Given the description of an element on the screen output the (x, y) to click on. 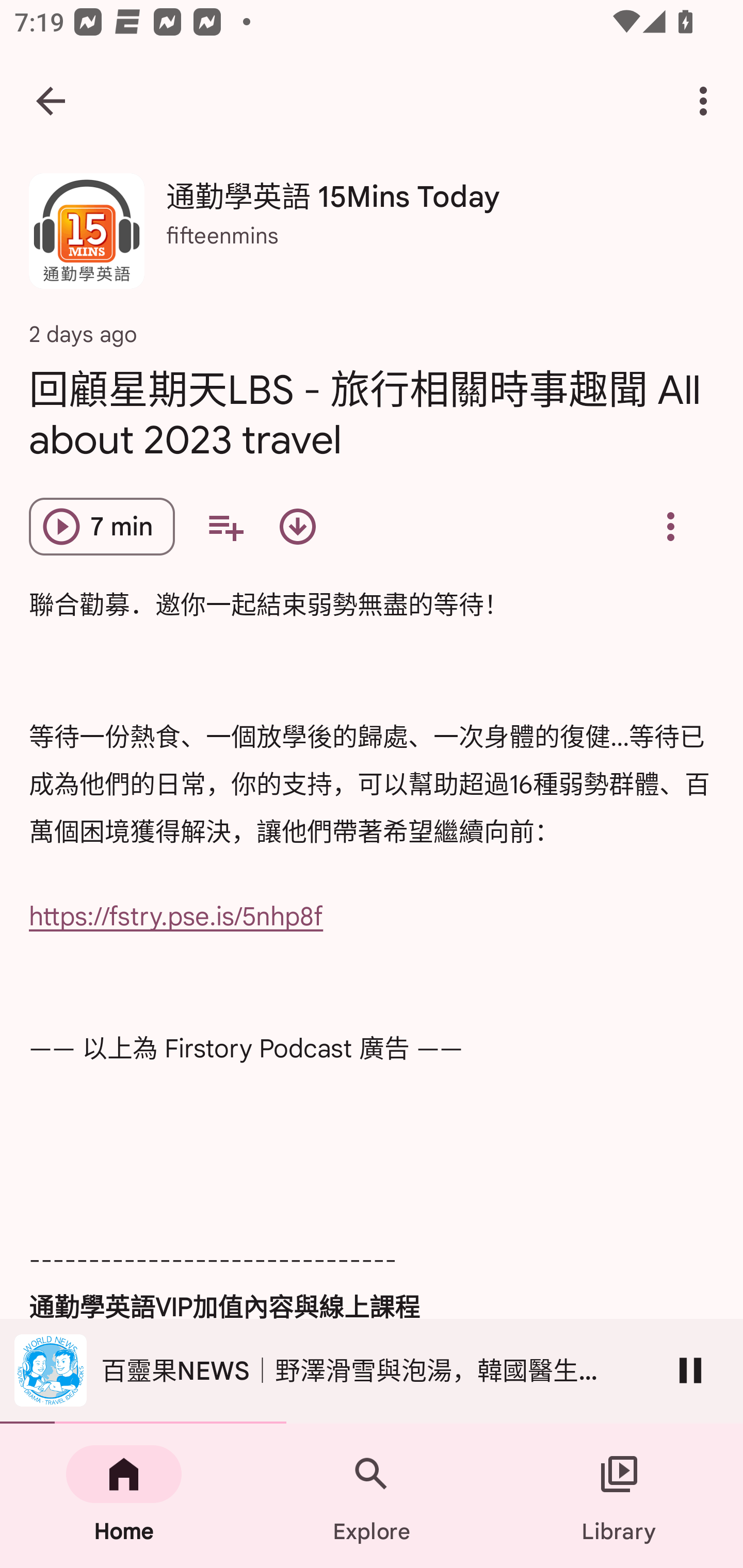
Navigate up (50, 101)
More options (706, 101)
通勤學英語 15Mins Today 通勤學英語 15Mins Today fifteenmins (371, 238)
Add to your queue (225, 525)
Download episode (297, 525)
Overflow menu (670, 525)
Pause (690, 1370)
Explore (371, 1495)
Library (619, 1495)
